Given the description of an element on the screen output the (x, y) to click on. 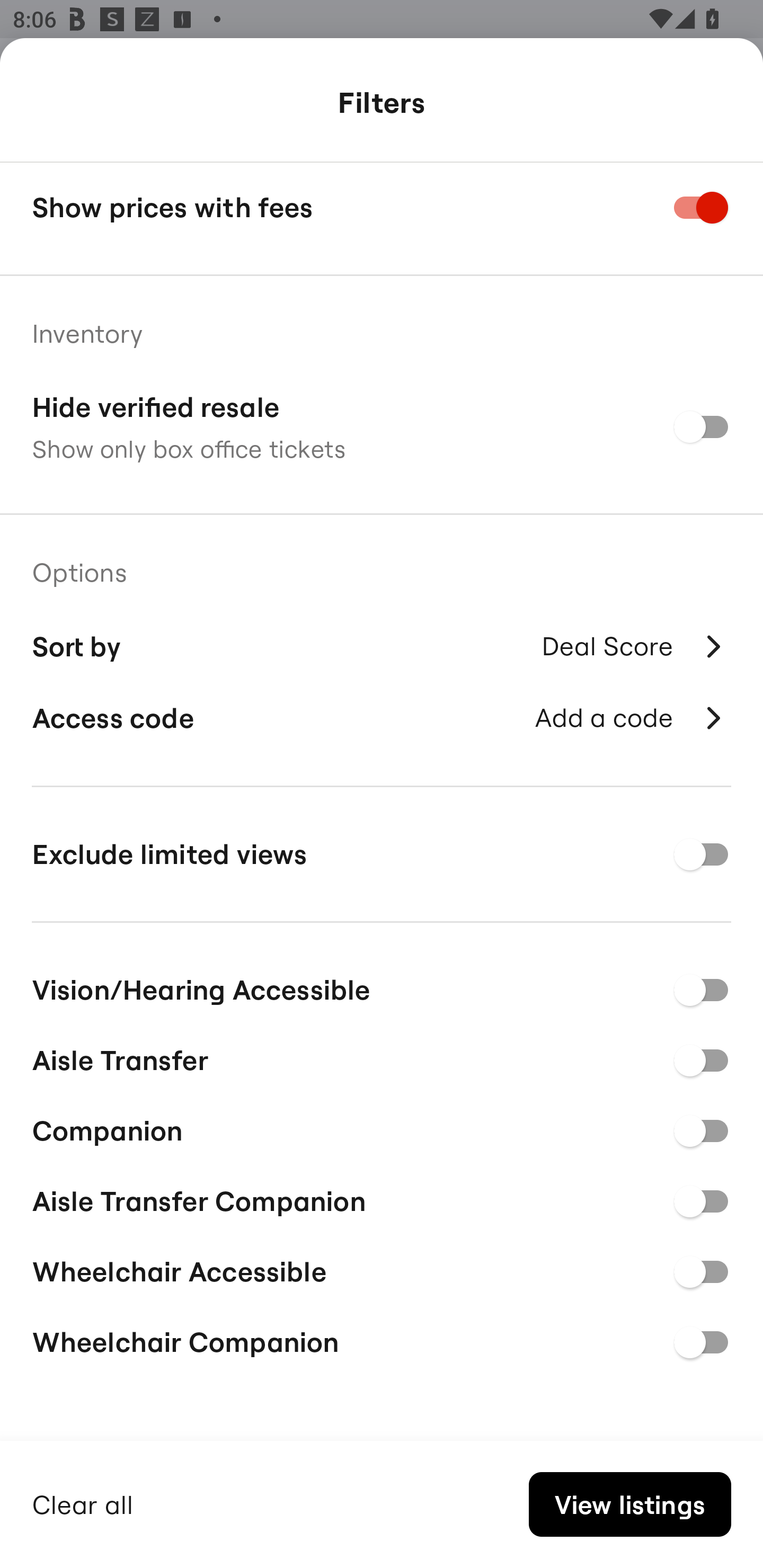
Show prices with fees (381, 207)
Hide verified resale Show only box office tickets (381, 426)
Sort by Deal Score (381, 644)
Access code Add a code (381, 717)
Exclude limited views (381, 854)
Vision/Hearing Accessible (381, 986)
Aisle Transfer (381, 1057)
Companion (381, 1127)
Aisle Transfer Companion (381, 1198)
Wheelchair Companion (381, 1341)
Clear all (83, 1502)
View listings (629, 1504)
